Given the description of an element on the screen output the (x, y) to click on. 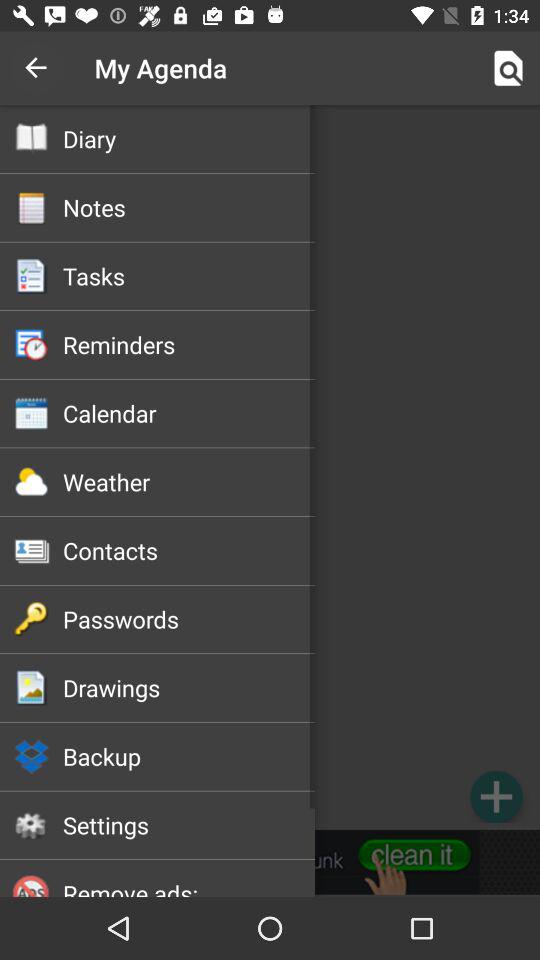
click item below the notes (188, 276)
